Given the description of an element on the screen output the (x, y) to click on. 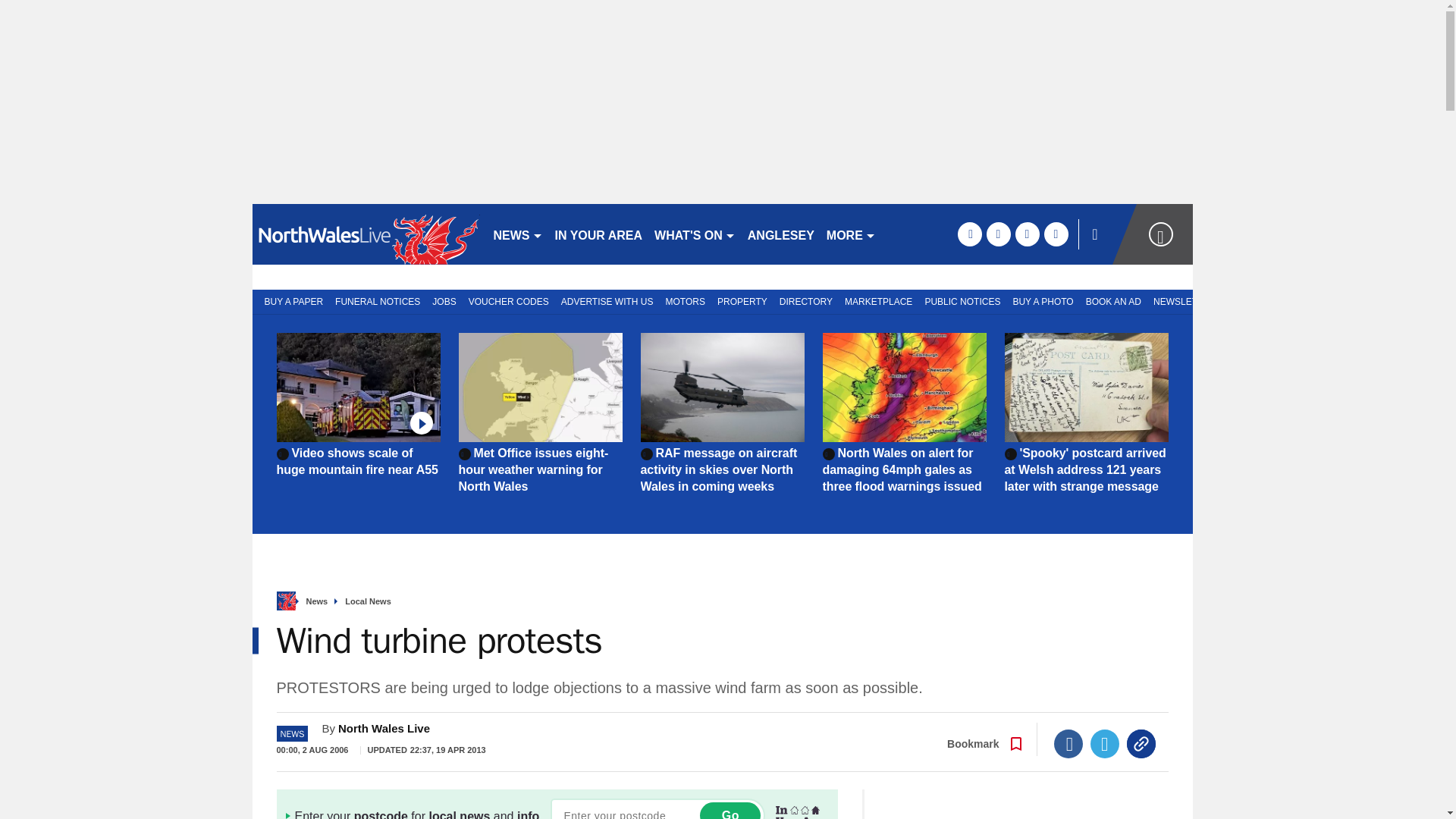
facebook (968, 233)
MOTORS (685, 300)
ANGLESEY (781, 233)
IN YOUR AREA (598, 233)
Facebook (1068, 743)
twitter (997, 233)
WHAT'S ON (694, 233)
BUY A PAPER (290, 300)
VOUCHER CODES (508, 300)
PROPERTY (742, 300)
